Given the description of an element on the screen output the (x, y) to click on. 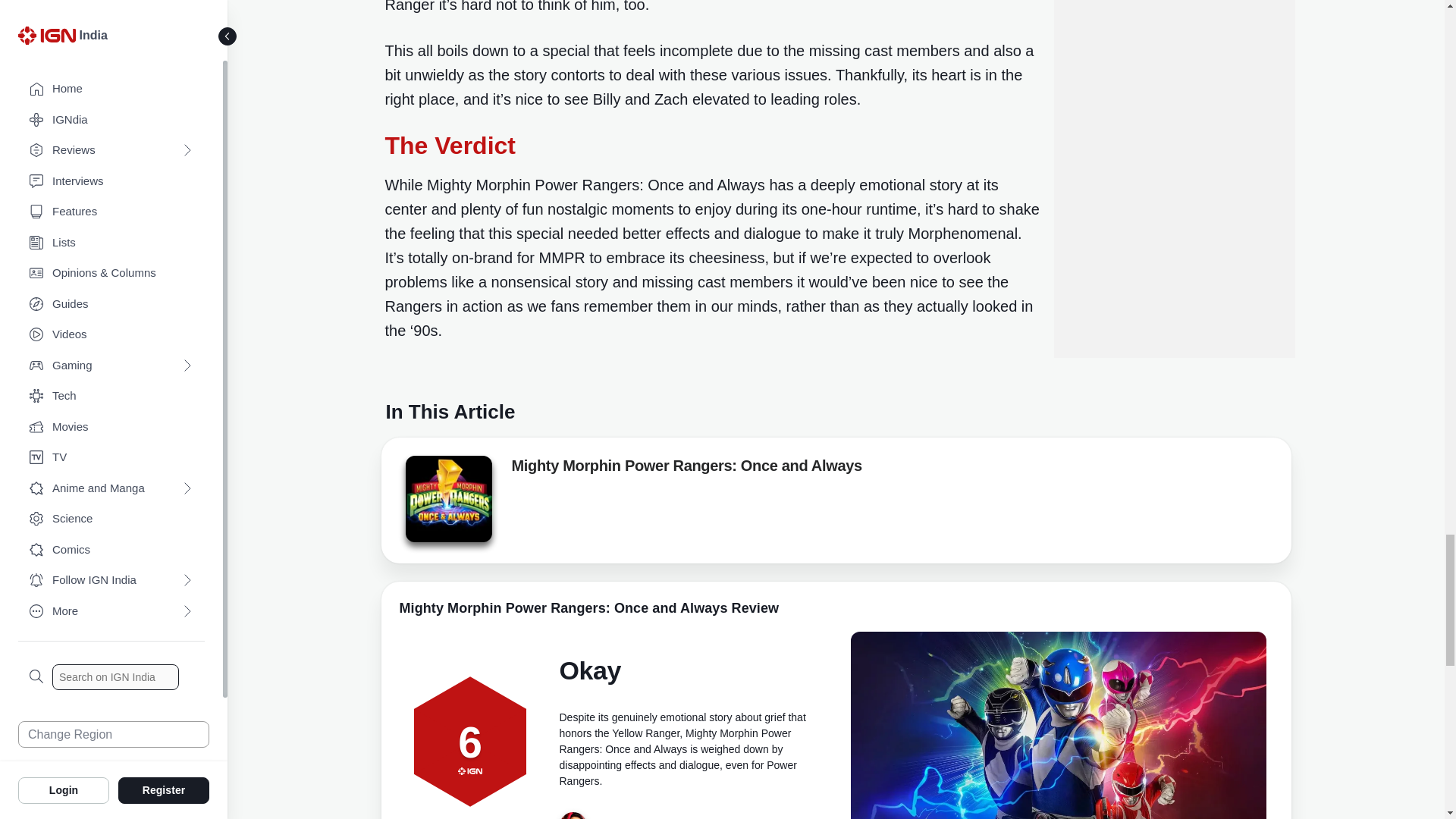
Mighty Morphin Power Rangers: Once and Always (448, 503)
Mighty Morphin Power Rangers: Once and Always (686, 468)
Mighty Morphin Power Rangers: Once and Always (448, 498)
